Given the description of an element on the screen output the (x, y) to click on. 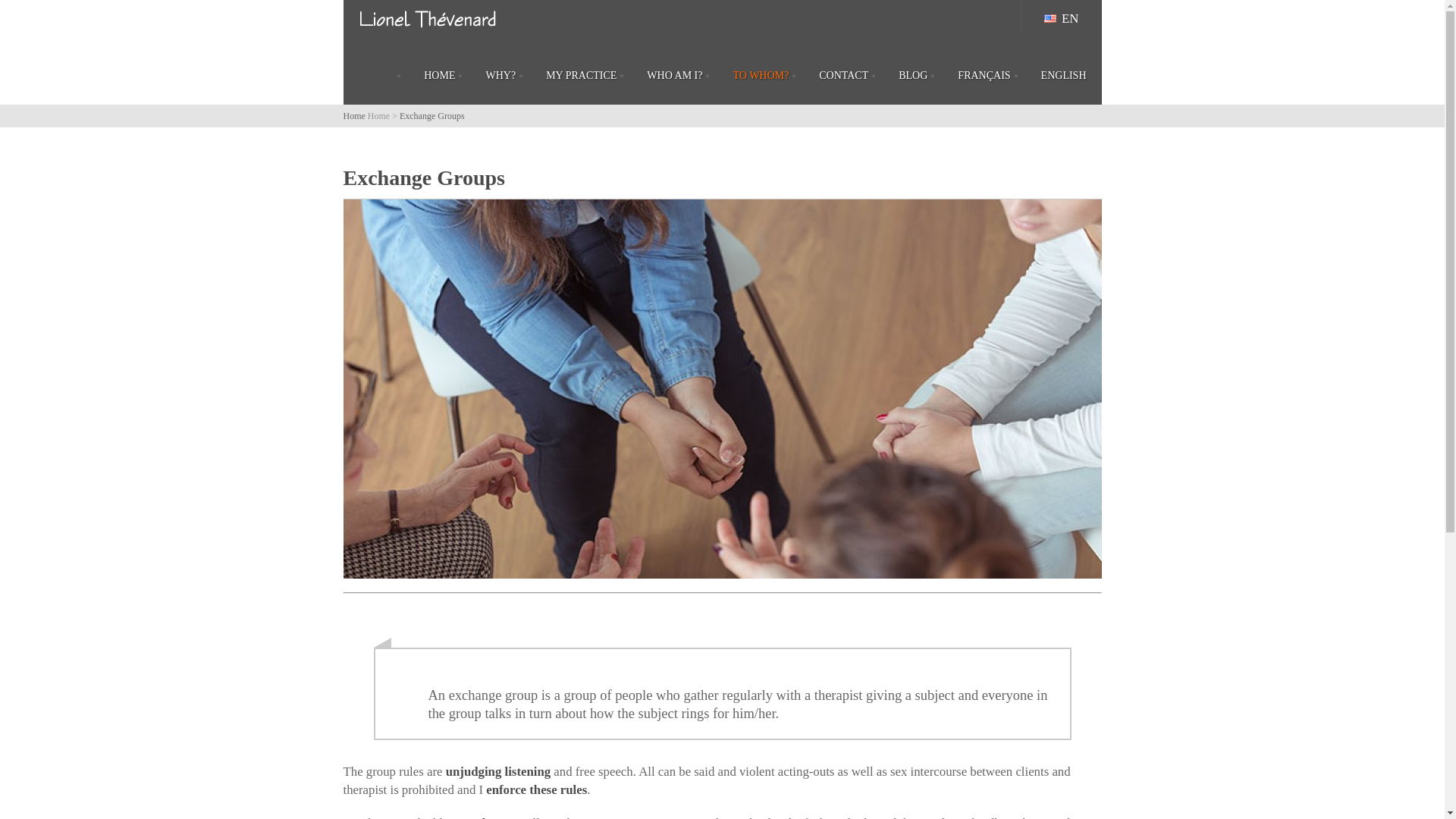
HOME (439, 75)
ENGLISH (1064, 75)
LIONEL THEVENARD (427, 29)
CONTACT (843, 75)
MY PRACTICE (581, 75)
English (1050, 18)
WHY? (500, 75)
EN (1061, 18)
LIONEL THEVENARD (379, 115)
TO WHOM? (760, 75)
Home (379, 115)
BLOG (912, 75)
WHO AM I? (674, 75)
